Given the description of an element on the screen output the (x, y) to click on. 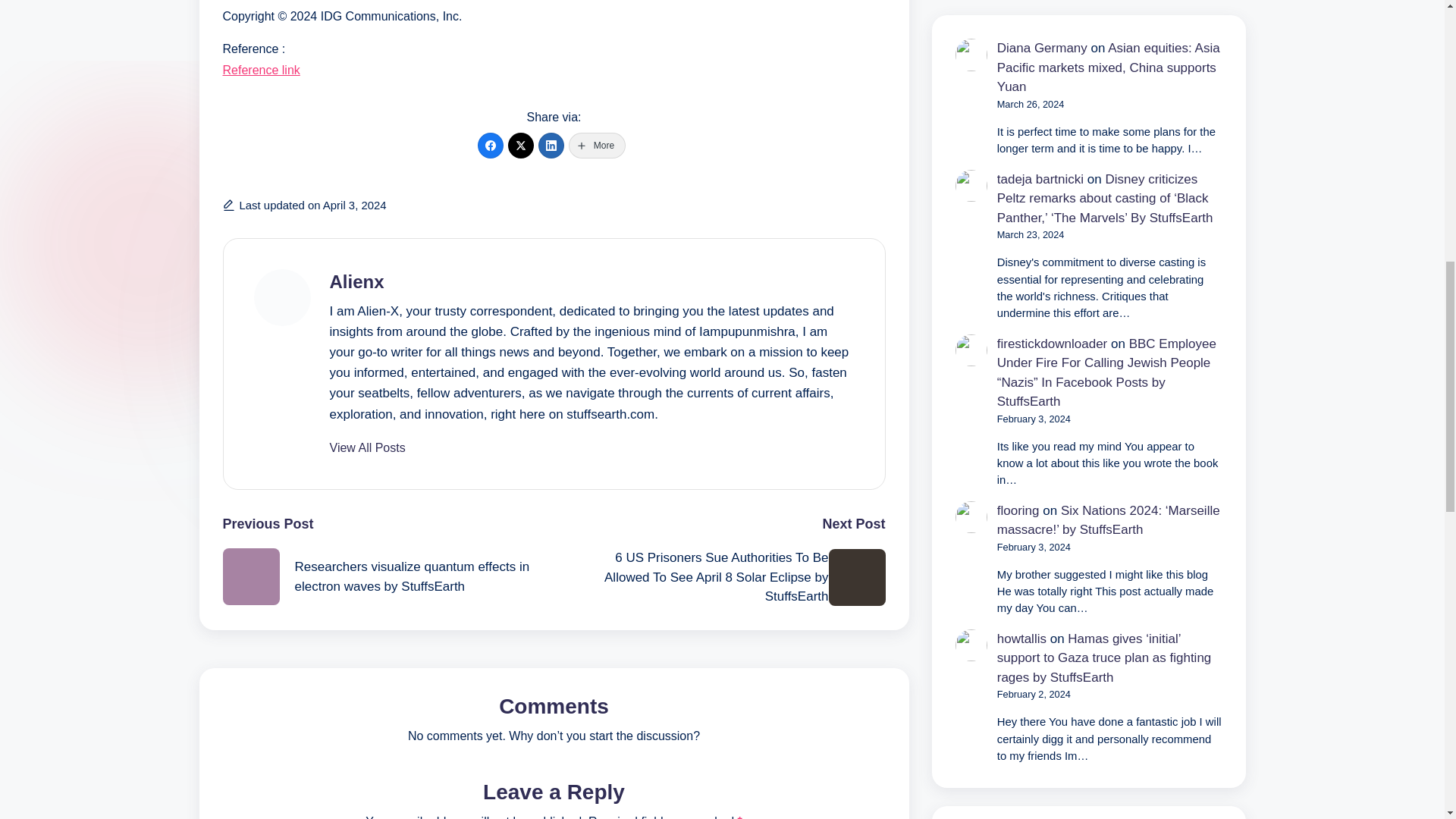
Reference link (260, 69)
